Given the description of an element on the screen output the (x, y) to click on. 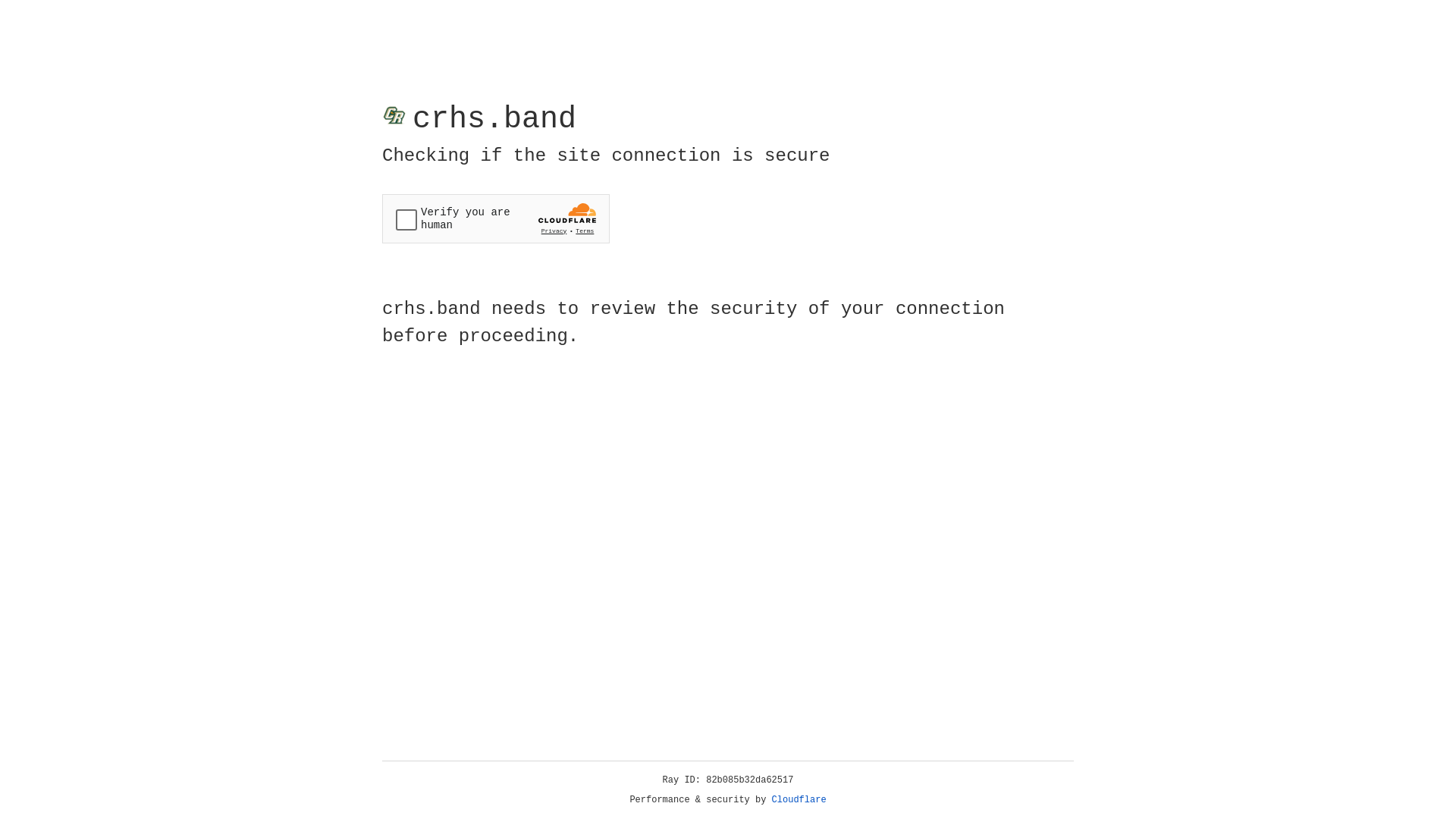
Cloudflare Element type: text (798, 799)
Widget containing a Cloudflare security challenge Element type: hover (495, 218)
